Given the description of an element on the screen output the (x, y) to click on. 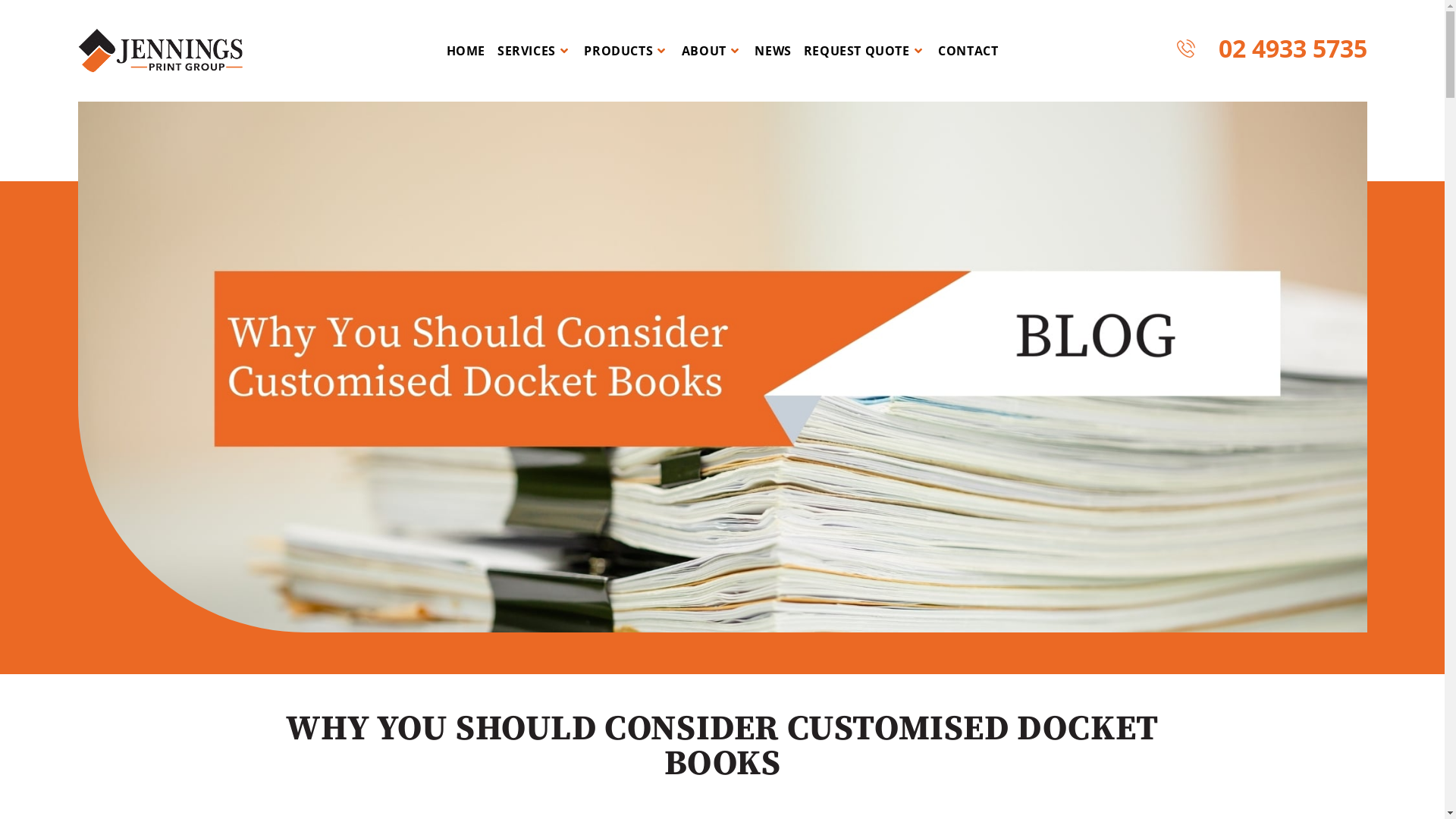
CONTACT Element type: text (967, 50)
PRODUCTS Element type: text (625, 50)
REQUEST QUOTE Element type: text (864, 50)
SERVICES Element type: text (534, 50)
ABOUT Element type: text (712, 50)
NEWS Element type: text (772, 50)
HOME Element type: text (465, 50)
02 4933 5735 Element type: text (1271, 48)
